Given the description of an element on the screen output the (x, y) to click on. 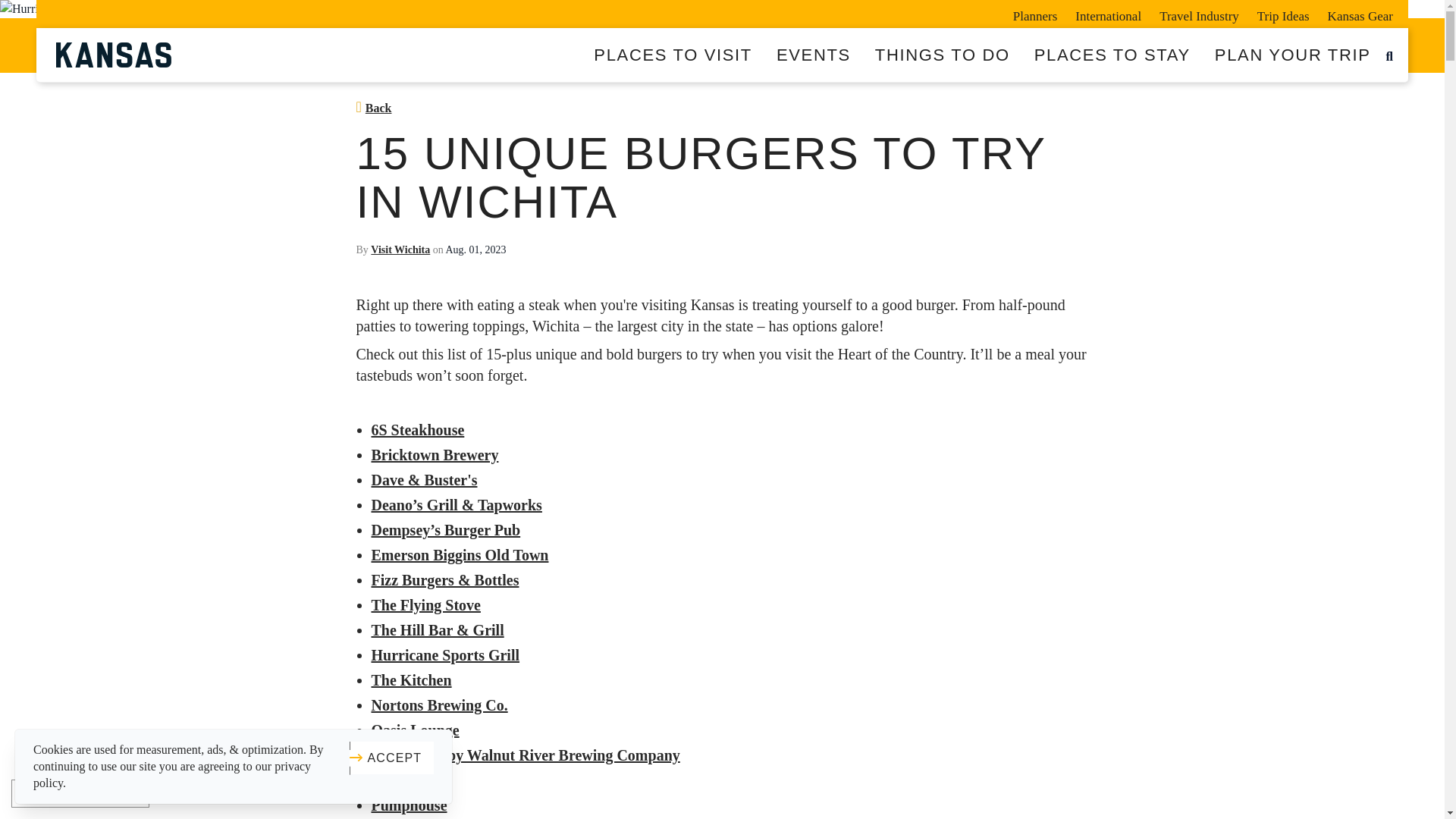
EVENTS (813, 54)
Travel Industry (1198, 13)
International (1107, 13)
Planners (1035, 13)
THINGS TO DO (942, 54)
PLACES TO STAY (1112, 54)
PLACES TO VISIT (672, 54)
Trip Ideas (1283, 13)
Kansas Gear (1356, 13)
